Given the description of an element on the screen output the (x, y) to click on. 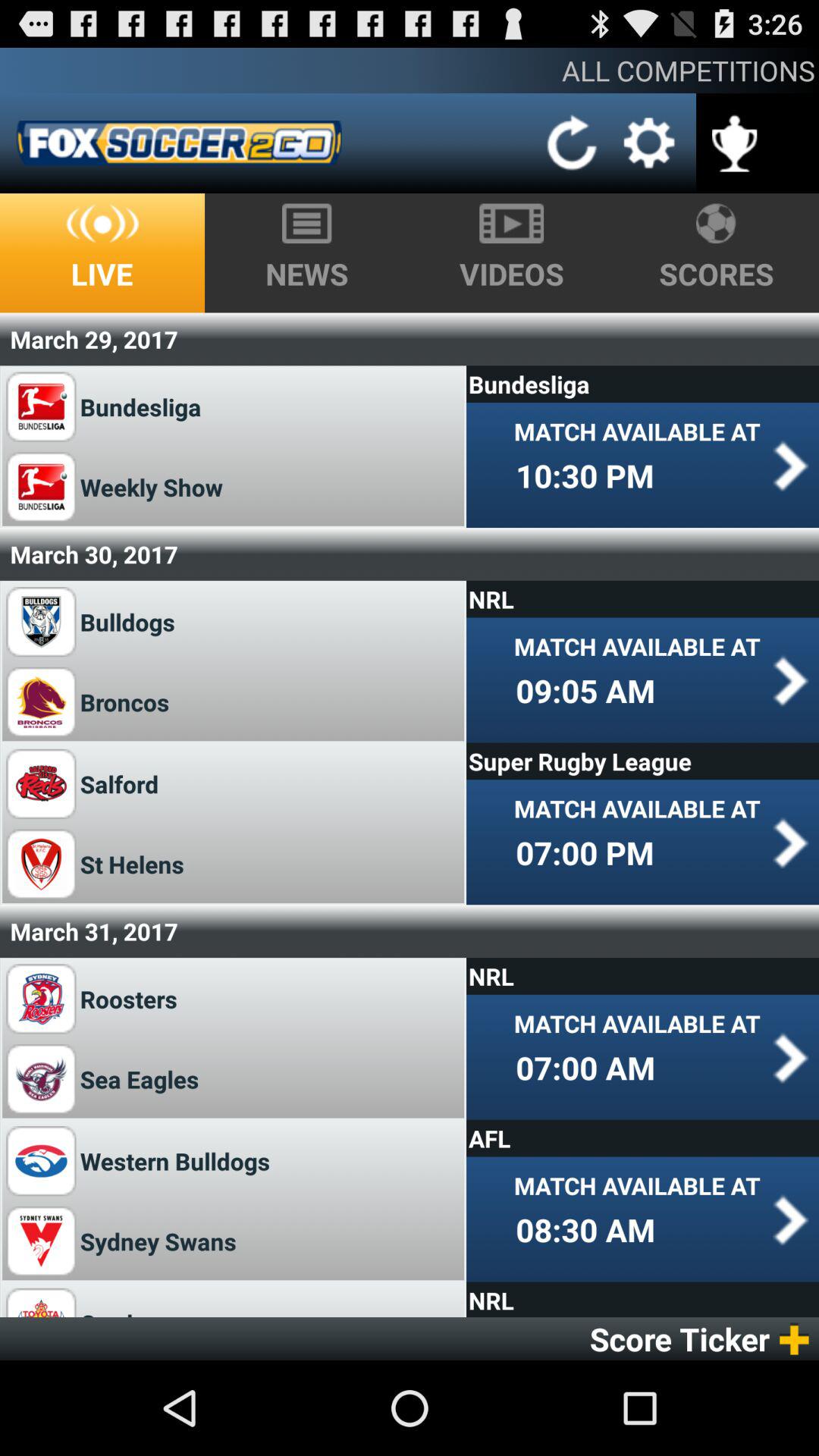
turn off the app next to the broncos  app (585, 690)
